Given the description of an element on the screen output the (x, y) to click on. 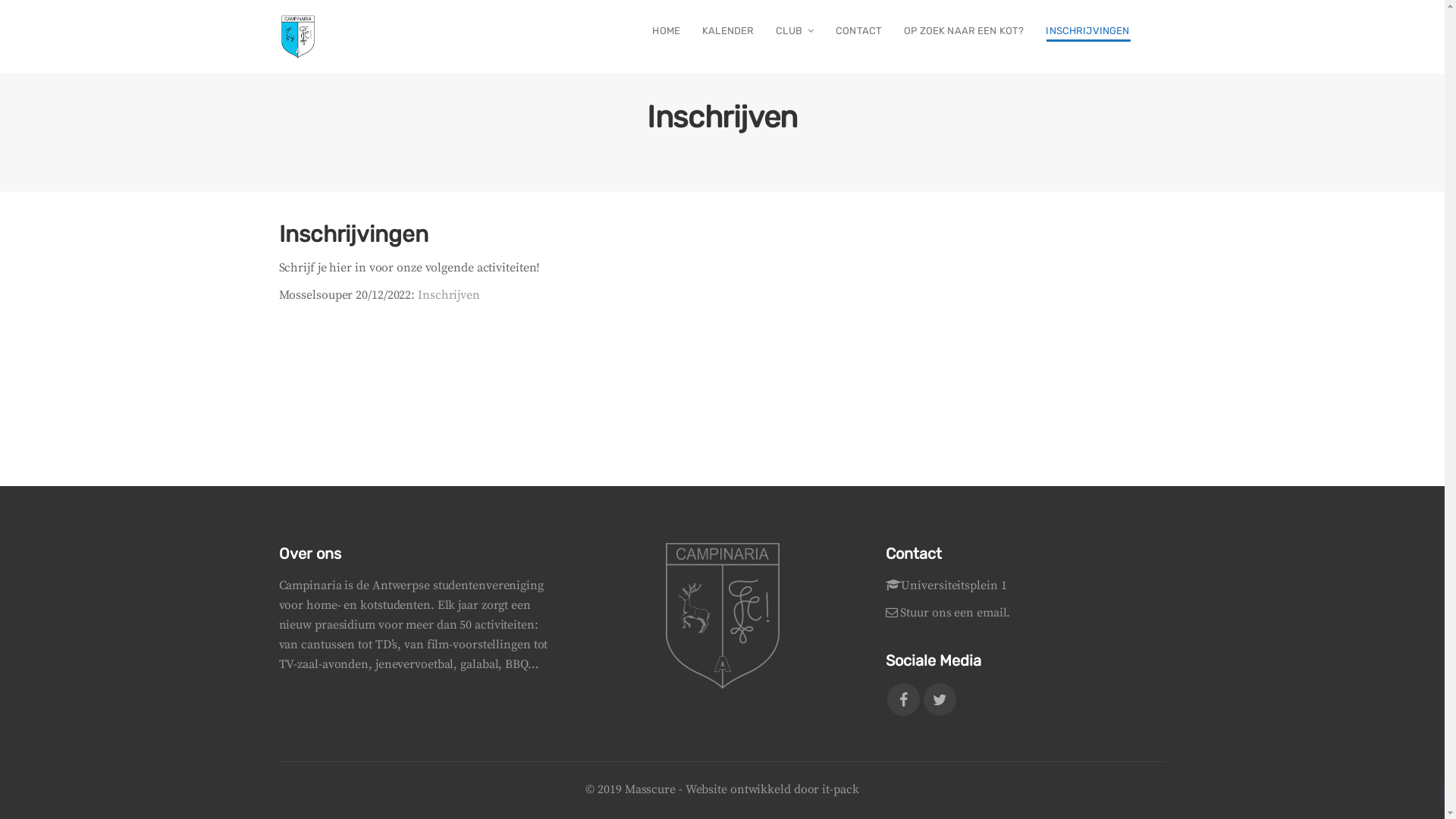
it-pack Element type: text (840, 789)
KALENDER Element type: text (728, 31)
INSCHRIJVINGEN Element type: text (1087, 31)
Inschrijven Element type: text (448, 294)
HOME Element type: text (666, 31)
Stuur ons een email. Element type: text (955, 612)
OP ZOEK NAAR EEN KOT? Element type: text (964, 31)
CONTACT Element type: text (859, 31)
CLUB Element type: text (795, 31)
Universiteitsplein 1 Element type: text (953, 585)
